Given the description of an element on the screen output the (x, y) to click on. 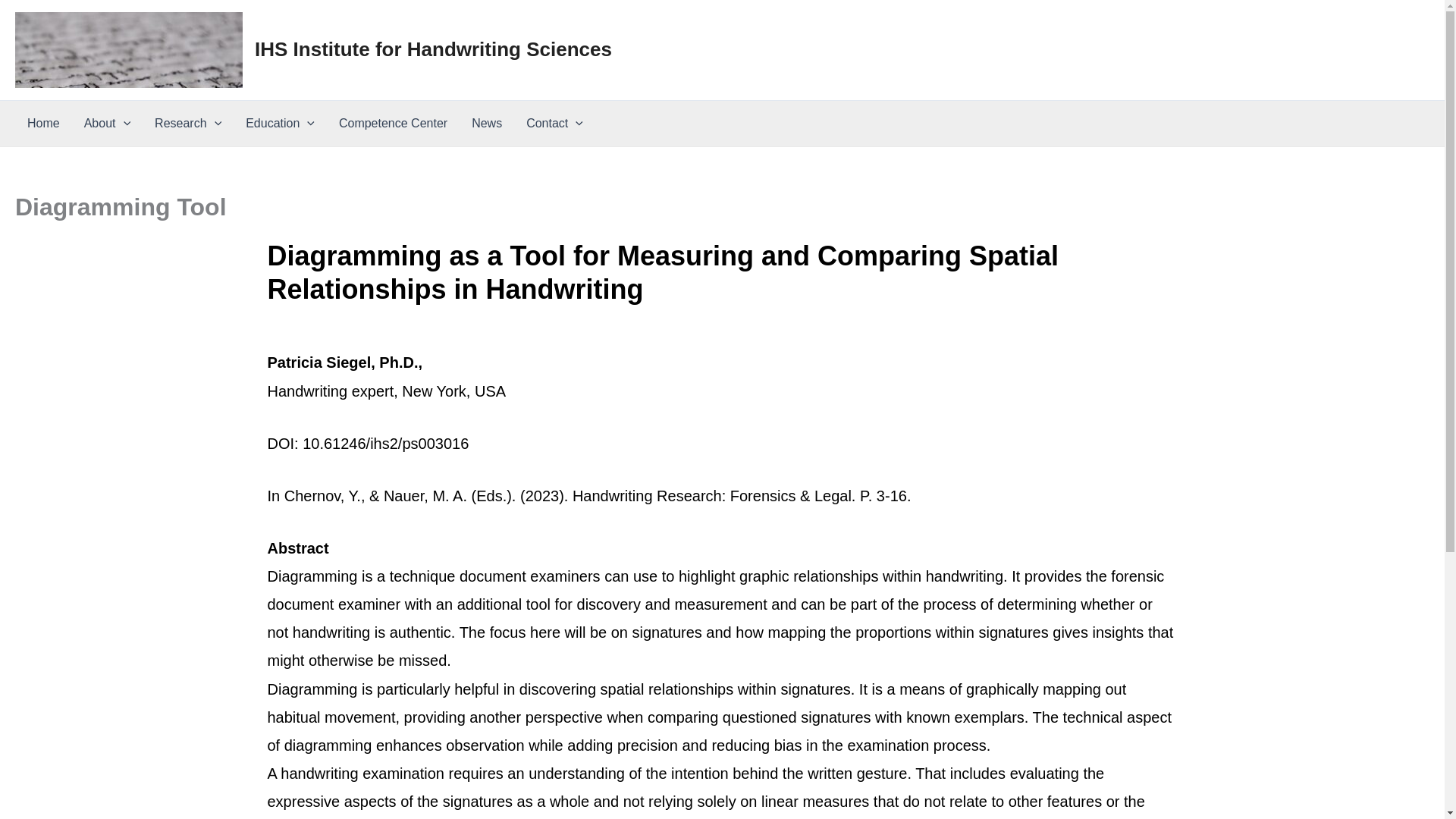
Education (279, 123)
About (106, 123)
IHS Institute for Handwriting Sciences (432, 48)
News (486, 123)
Competence Center (393, 123)
Research (187, 123)
Contact (554, 123)
Home (42, 123)
